Given the description of an element on the screen output the (x, y) to click on. 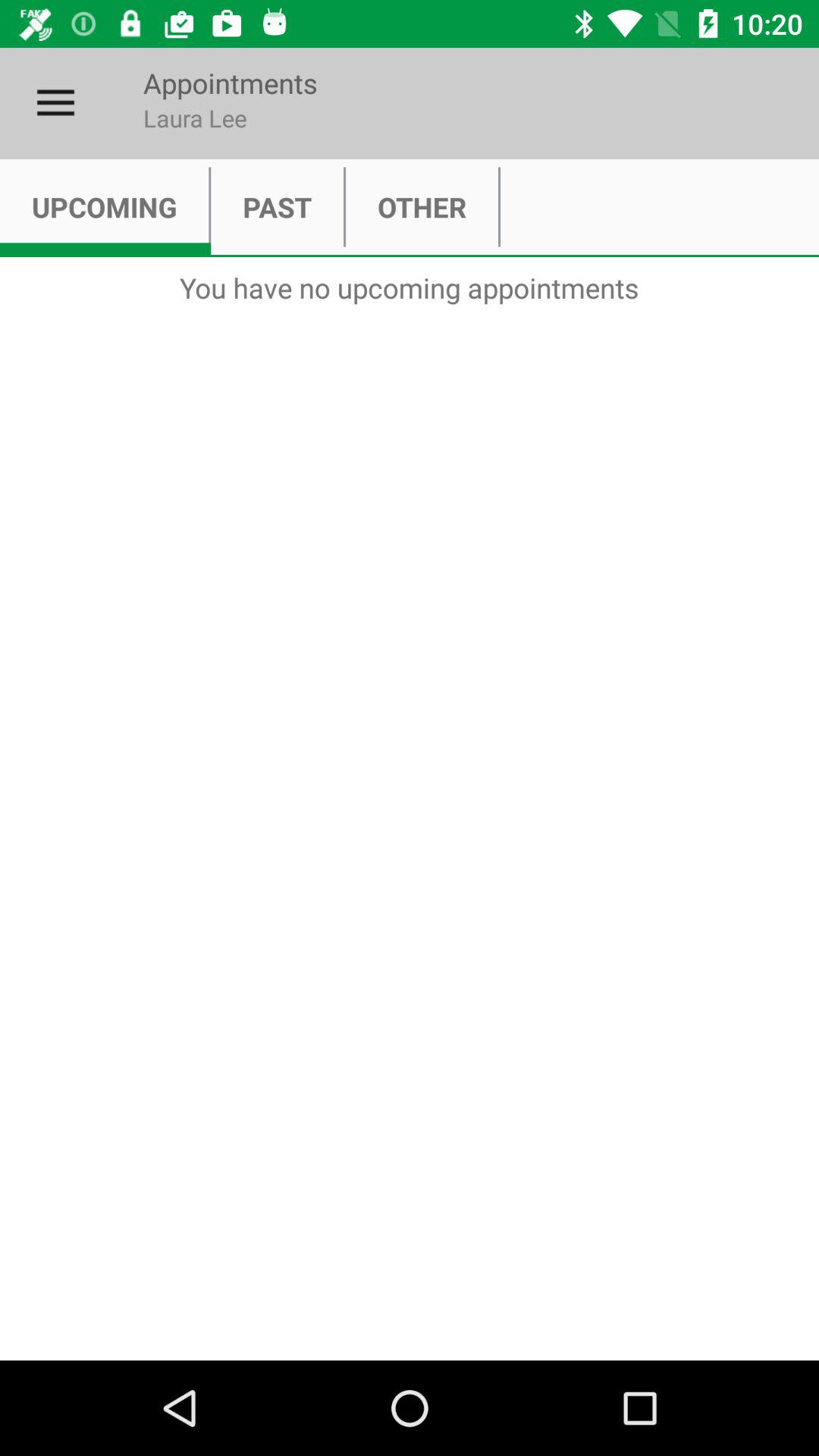
tap the item above upcoming icon (55, 103)
